Given the description of an element on the screen output the (x, y) to click on. 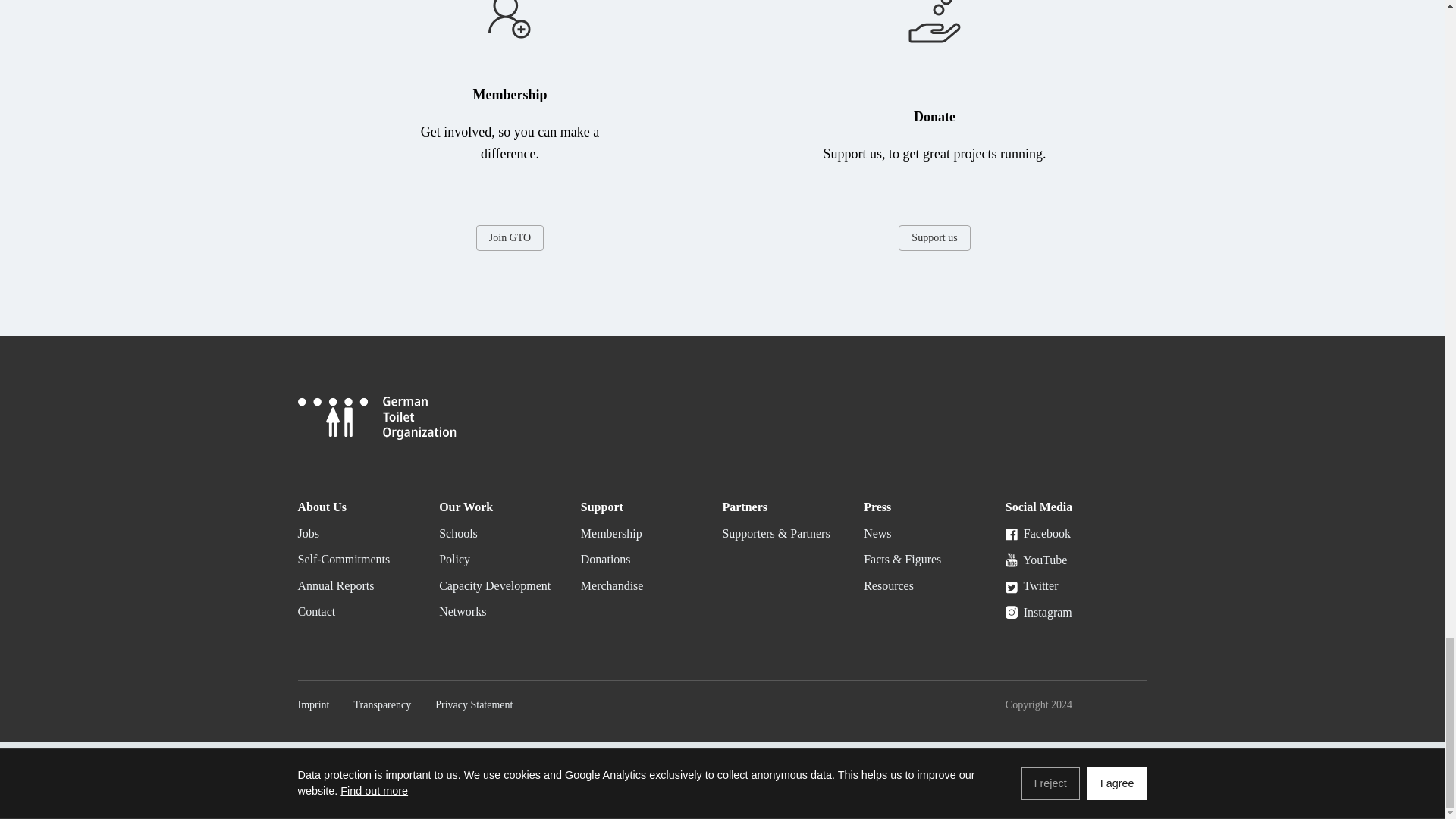
Schools (458, 533)
Self-Commitments (343, 558)
Donations (605, 558)
Contact (315, 611)
Membership (611, 533)
Policy (454, 558)
Join GTO (509, 237)
Merchandise (611, 585)
Annual Reports (335, 585)
Jobs (307, 533)
